Given the description of an element on the screen output the (x, y) to click on. 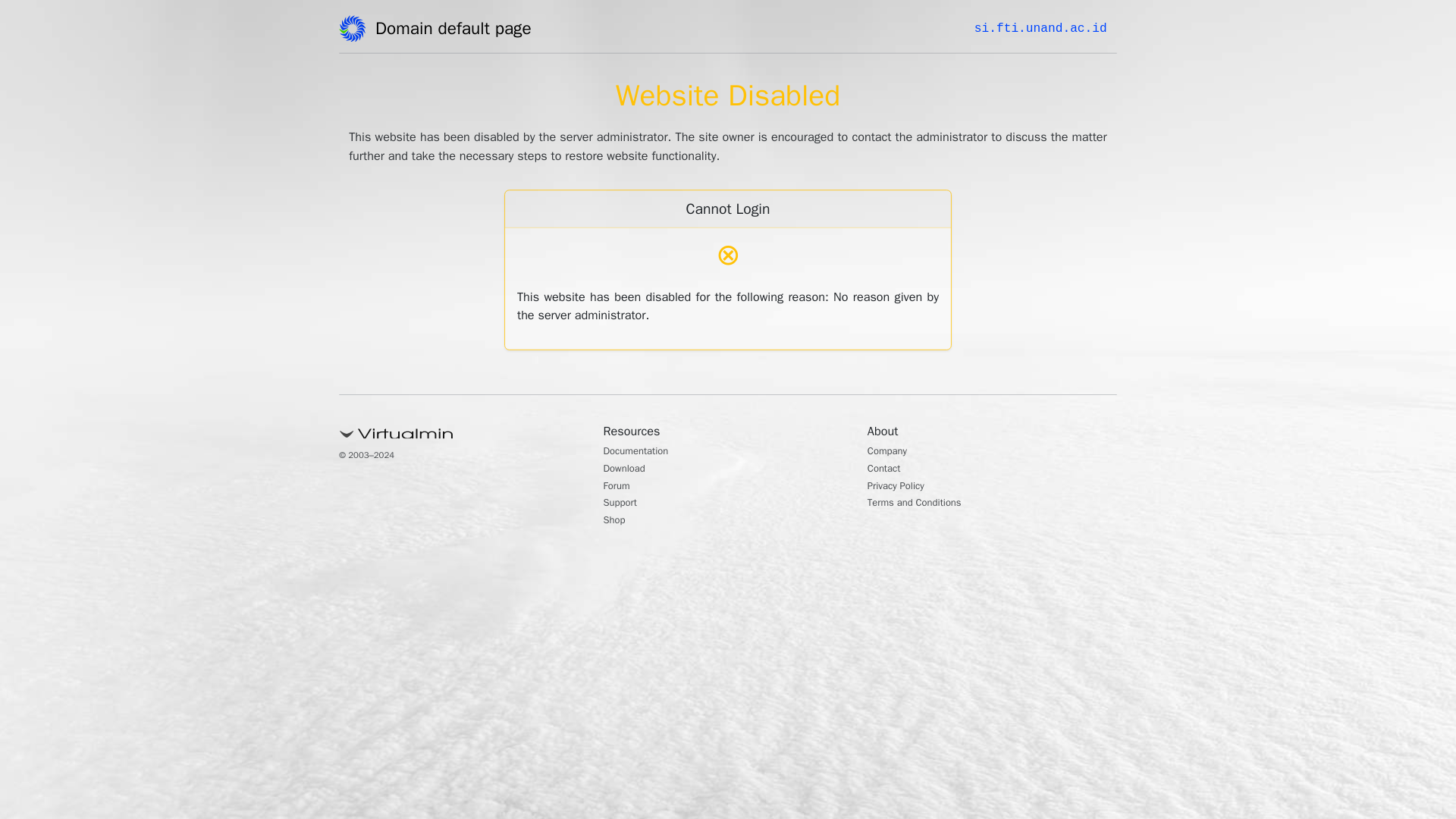
Support (624, 503)
Documentation (644, 452)
Domain default page (457, 31)
Terms and Conditions (925, 503)
Download (629, 469)
Forum (620, 487)
Contact (887, 469)
Privacy Policy (902, 487)
Company (891, 452)
Shop (617, 521)
